Given the description of an element on the screen output the (x, y) to click on. 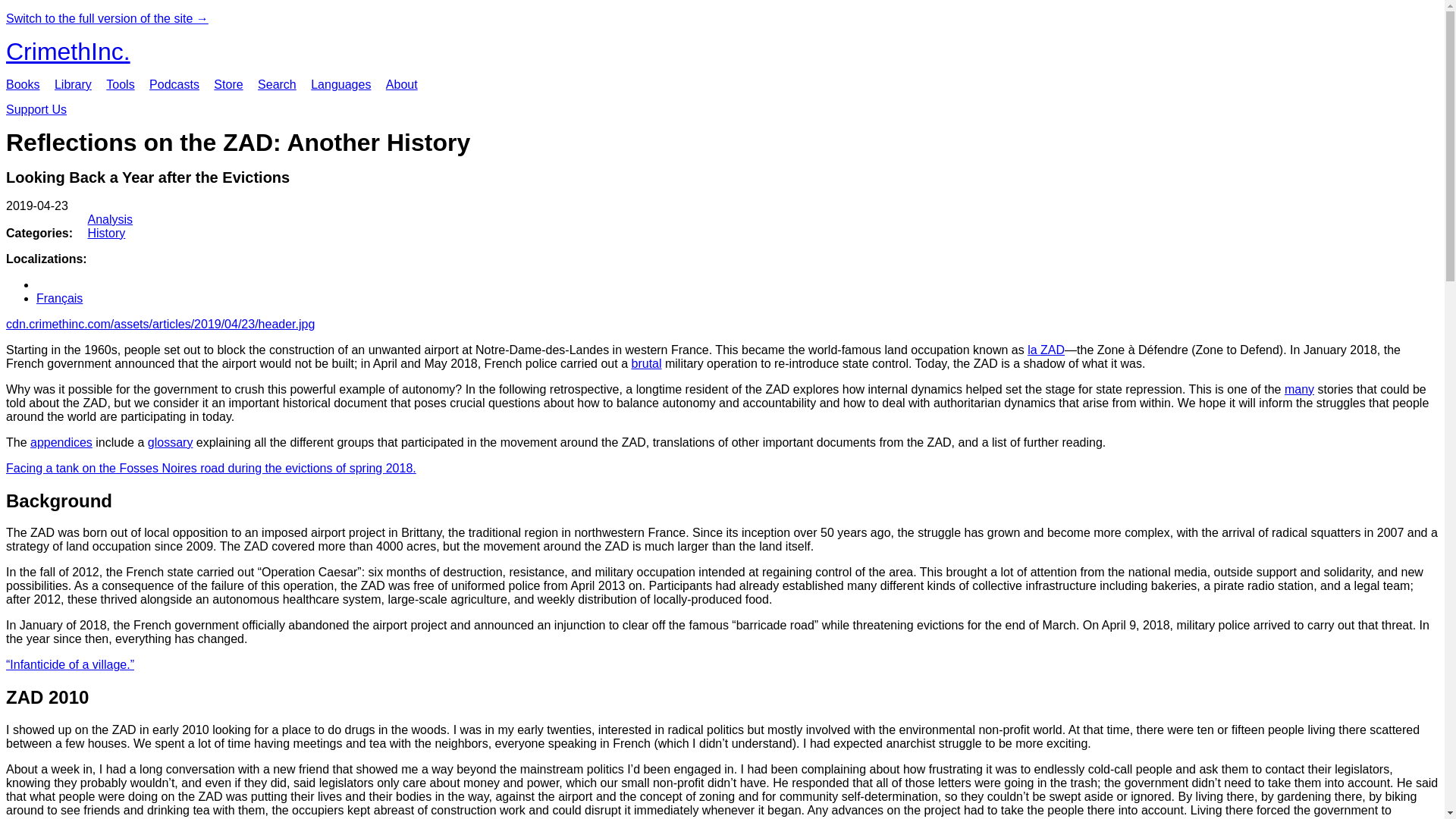
Books (22, 83)
About (401, 83)
Podcasts (174, 83)
appendices (61, 441)
glossary (170, 441)
brutal (645, 363)
CrimethInc. (68, 51)
Tools (119, 83)
Library (73, 83)
Support Us (35, 109)
many (1299, 389)
Languages (341, 83)
la ZAD (1045, 349)
Store (228, 83)
